Given the description of an element on the screen output the (x, y) to click on. 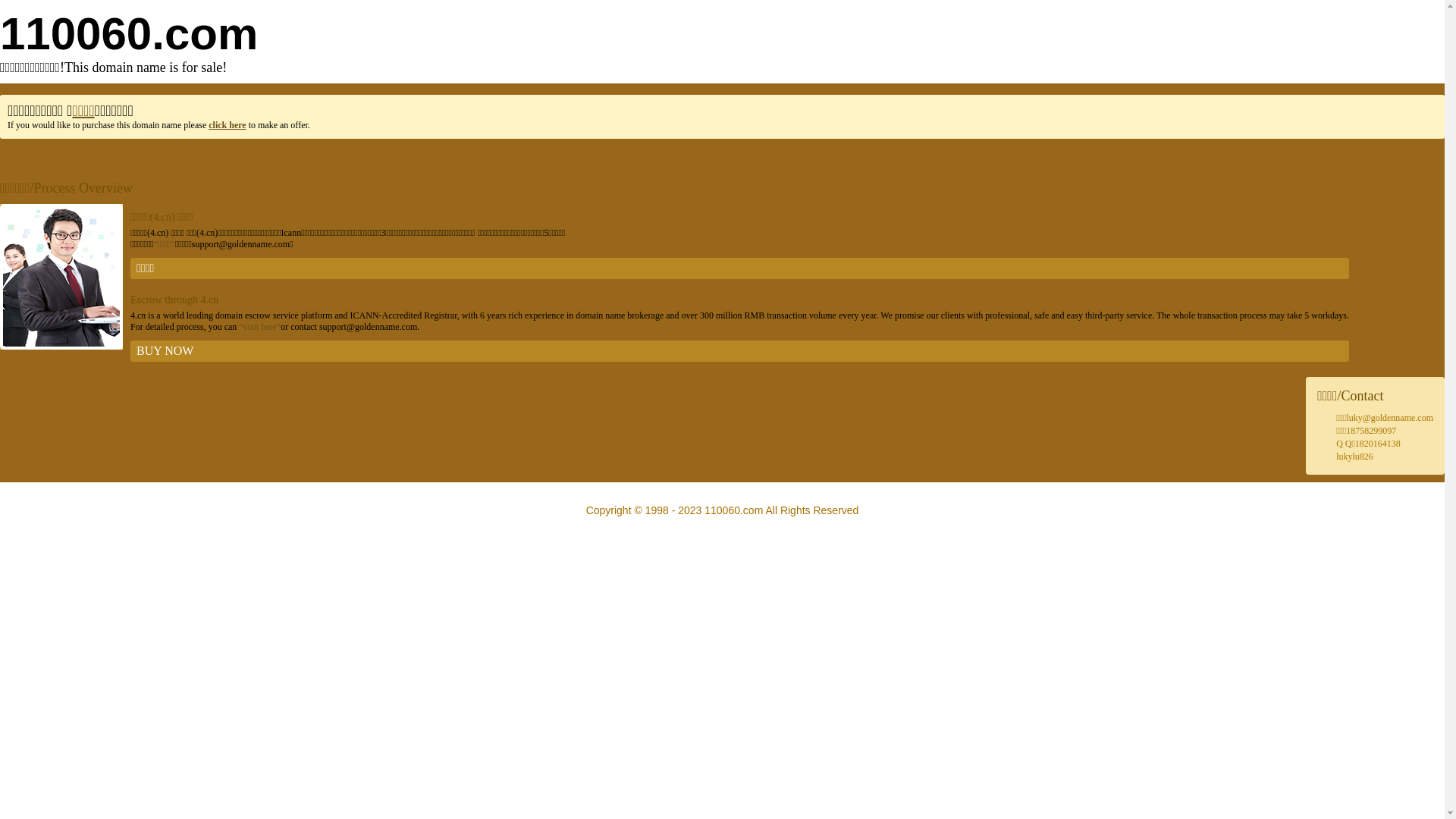
click here Element type: text (226, 124)
BUY NOW Element type: text (739, 350)
